Given the description of an element on the screen output the (x, y) to click on. 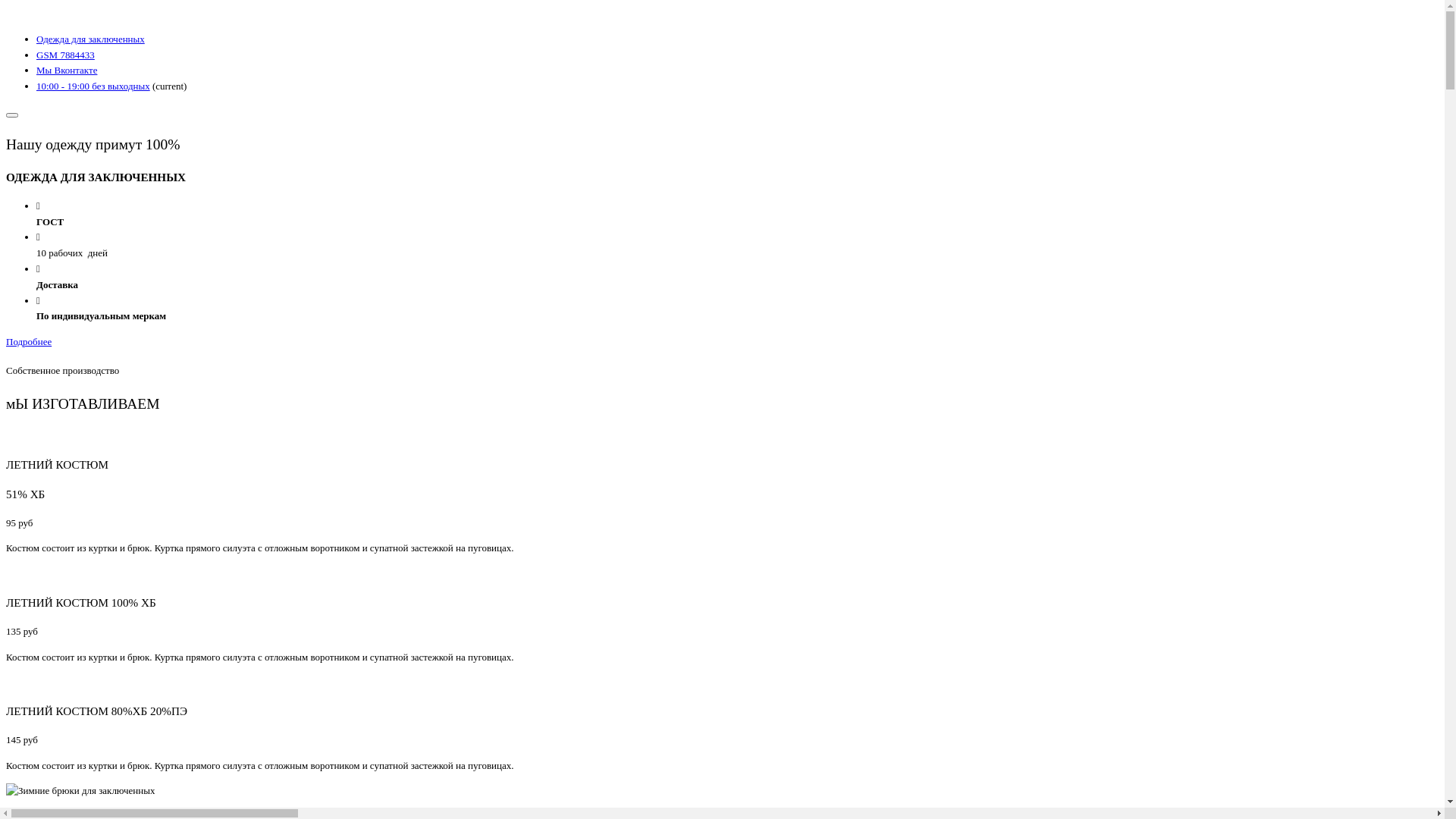
GSM 7884433 Element type: text (65, 54)
